Given the description of an element on the screen output the (x, y) to click on. 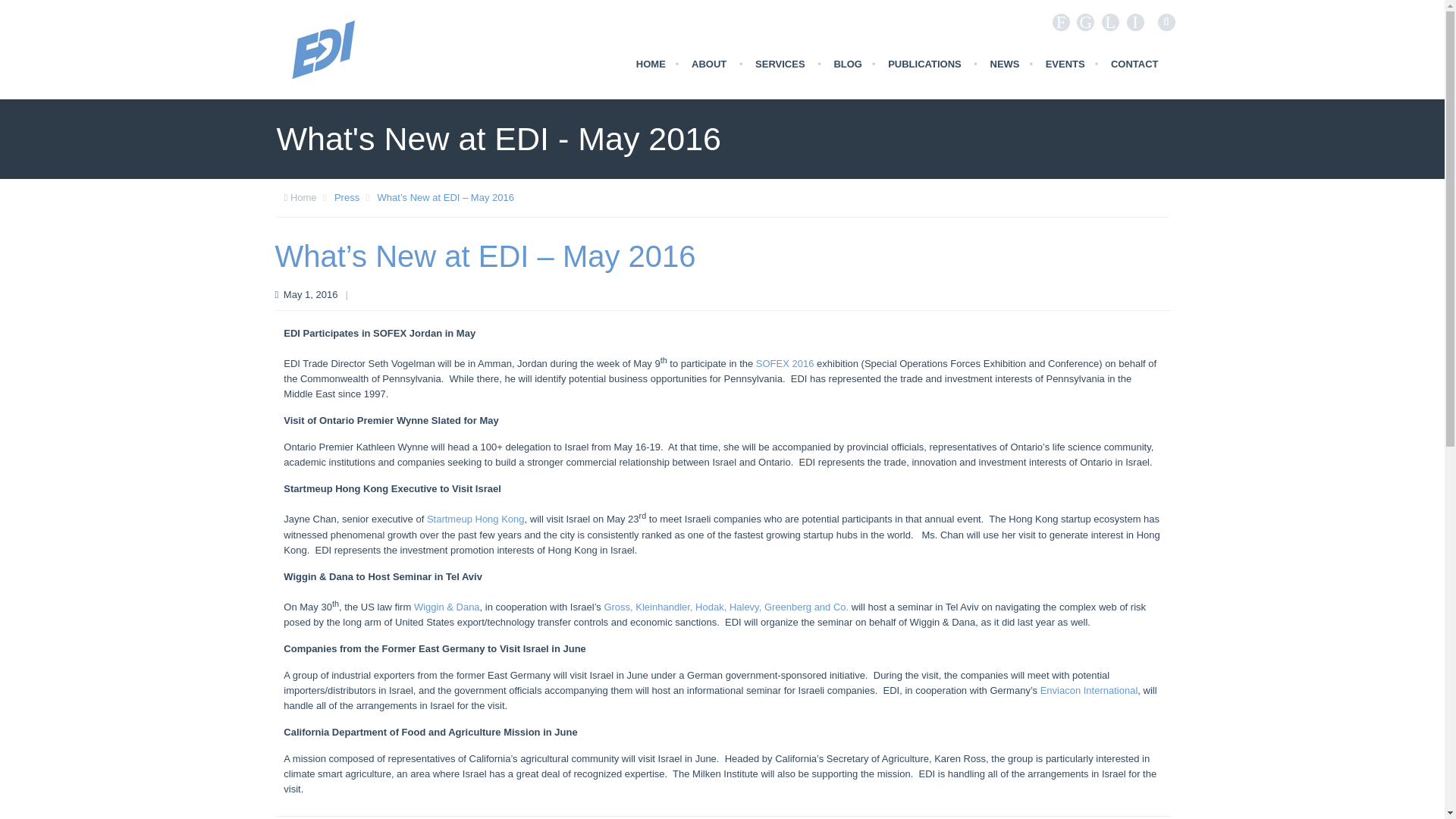
Press (346, 197)
Atid EDI (322, 49)
EVENTS (1064, 64)
Home (303, 197)
PUBLICATIONS (924, 64)
SERVICES (780, 64)
F (1061, 22)
L (1110, 22)
G (1085, 22)
Gross, Kleinhandler, Hodak, Halevy, Greenberg and Co. (726, 606)
